Given the description of an element on the screen output the (x, y) to click on. 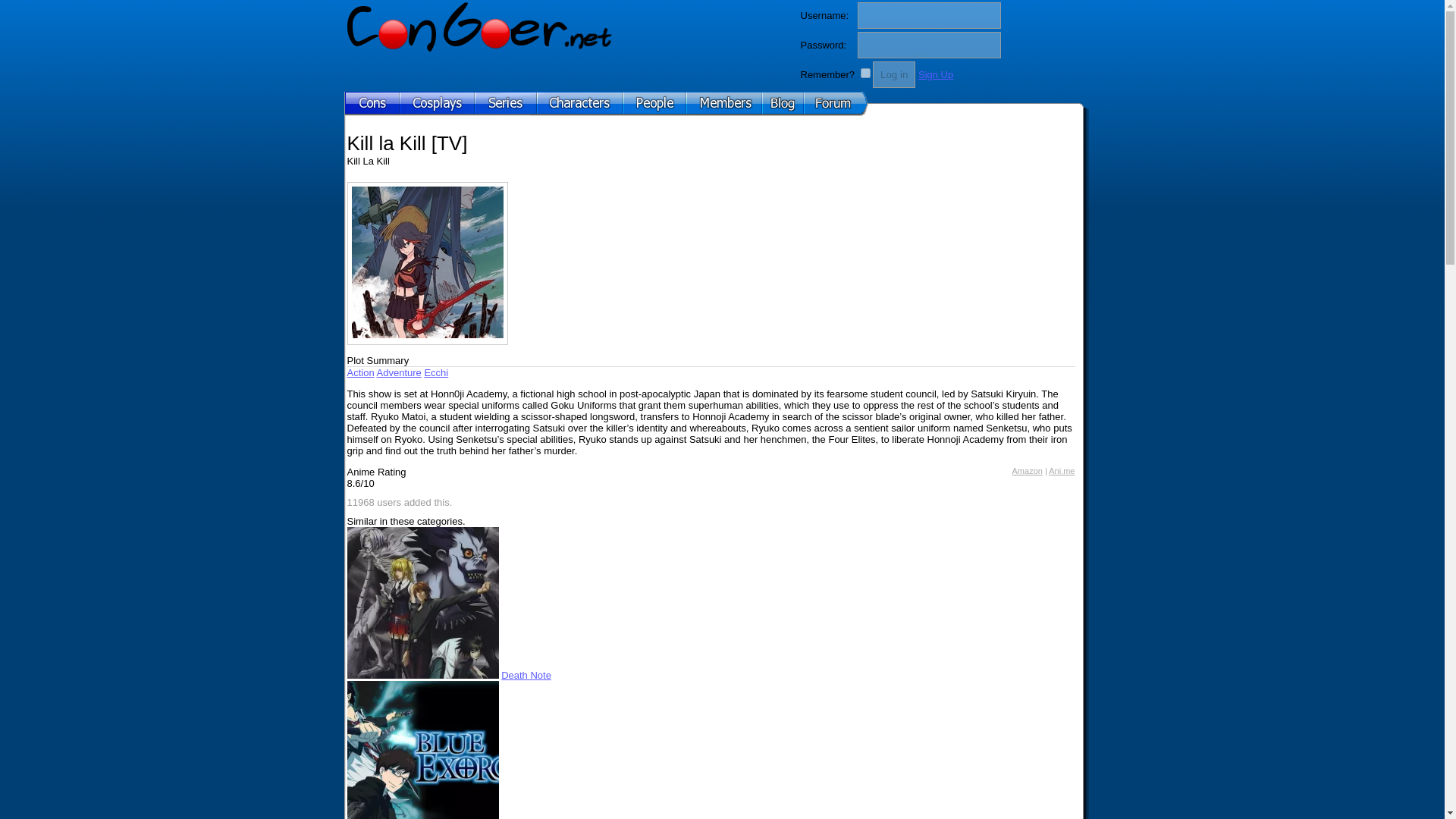
Amazon (1026, 470)
Log in (893, 74)
Log in (893, 74)
Sign Up (935, 74)
Ani.me (1061, 470)
Death Note (525, 674)
Ecchi (435, 372)
Action (360, 372)
Adventure (399, 372)
1 (865, 72)
